Given the description of an element on the screen output the (x, y) to click on. 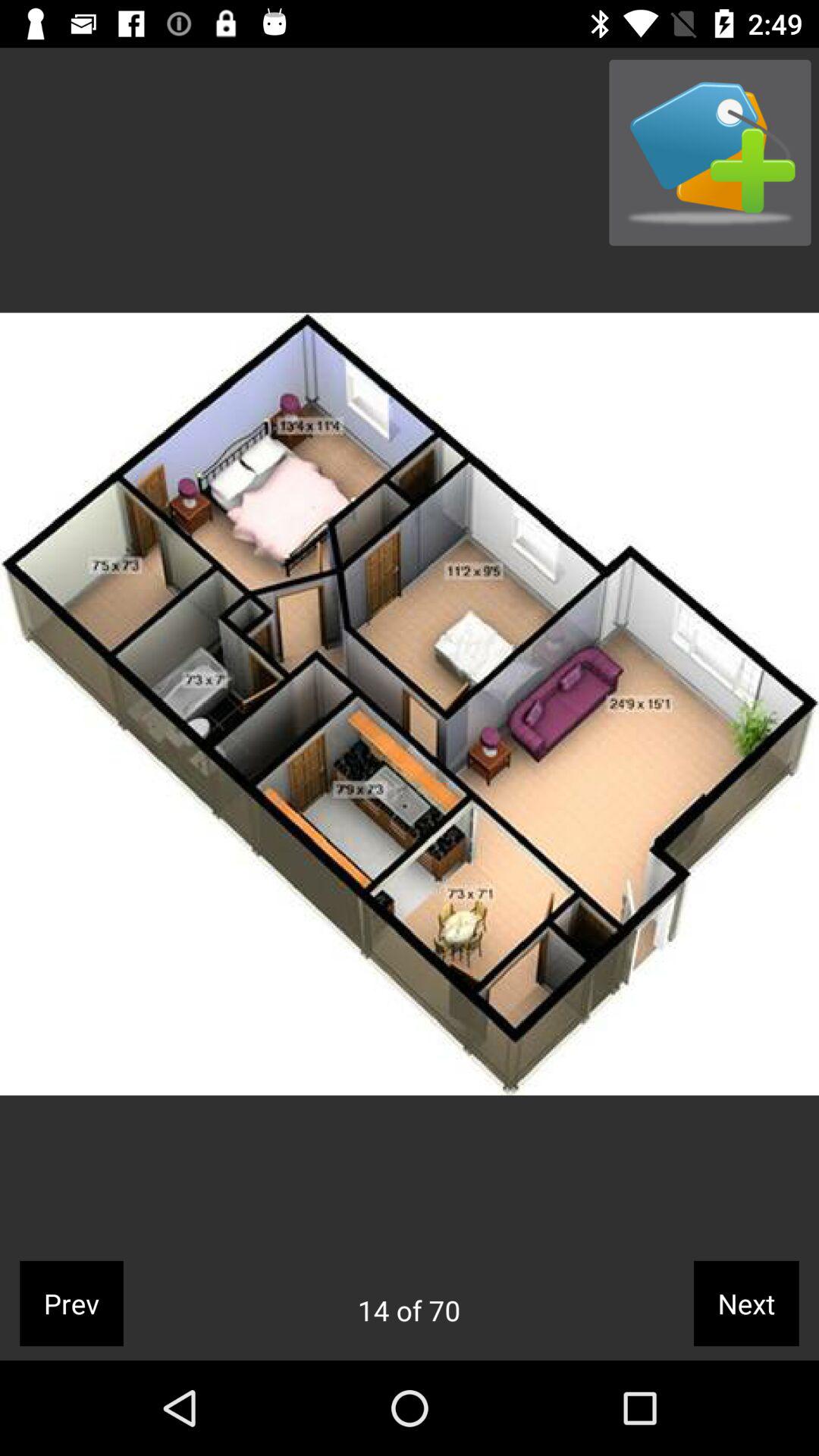
turn off the next item (746, 1303)
